Given the description of an element on the screen output the (x, y) to click on. 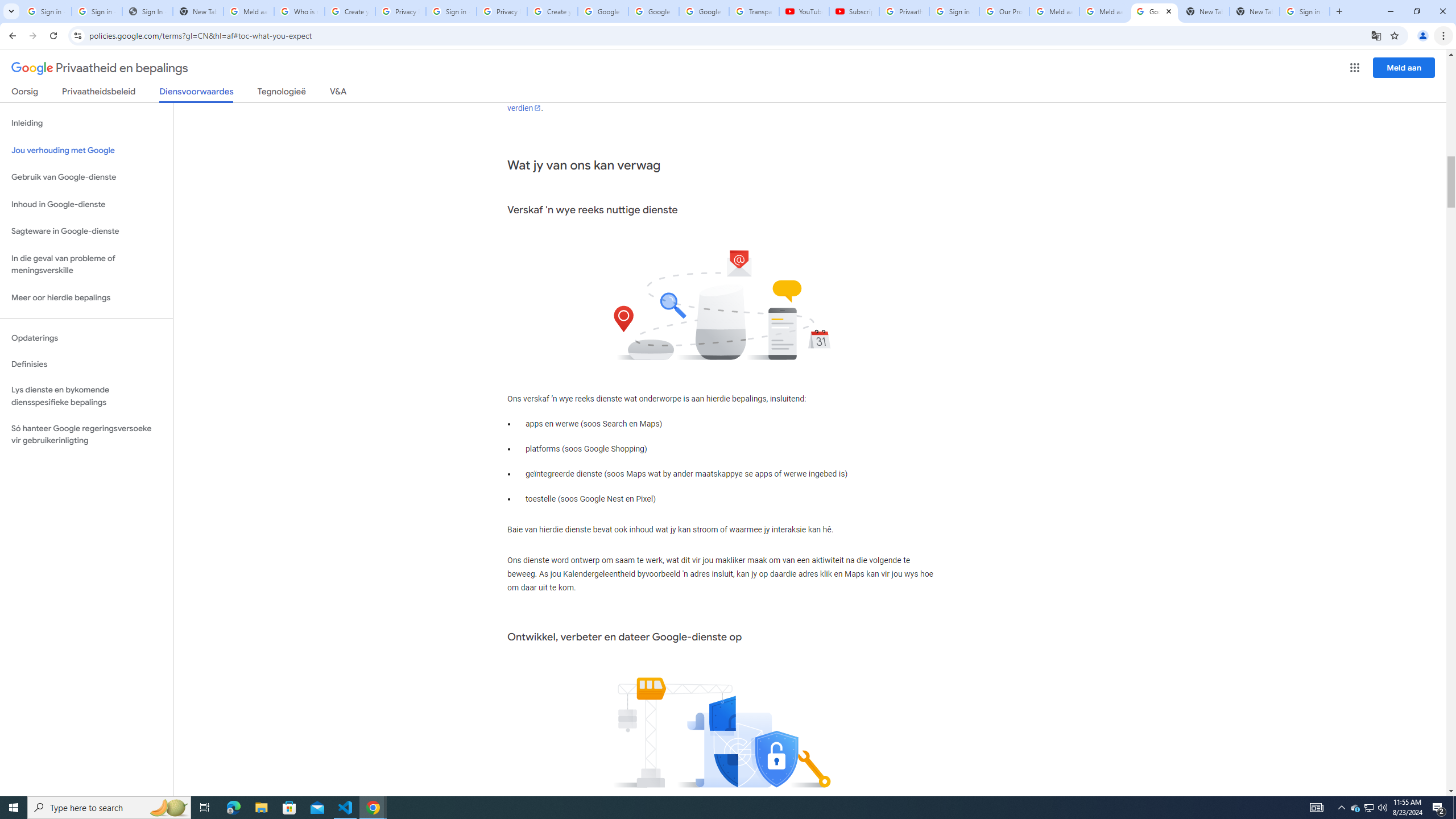
Privaatheid en bepalings (99, 68)
Google-programme (1355, 67)
Translate this page (1376, 35)
Definisies (86, 363)
dienste (902, 80)
New Tab (1254, 11)
